Given the description of an element on the screen output the (x, y) to click on. 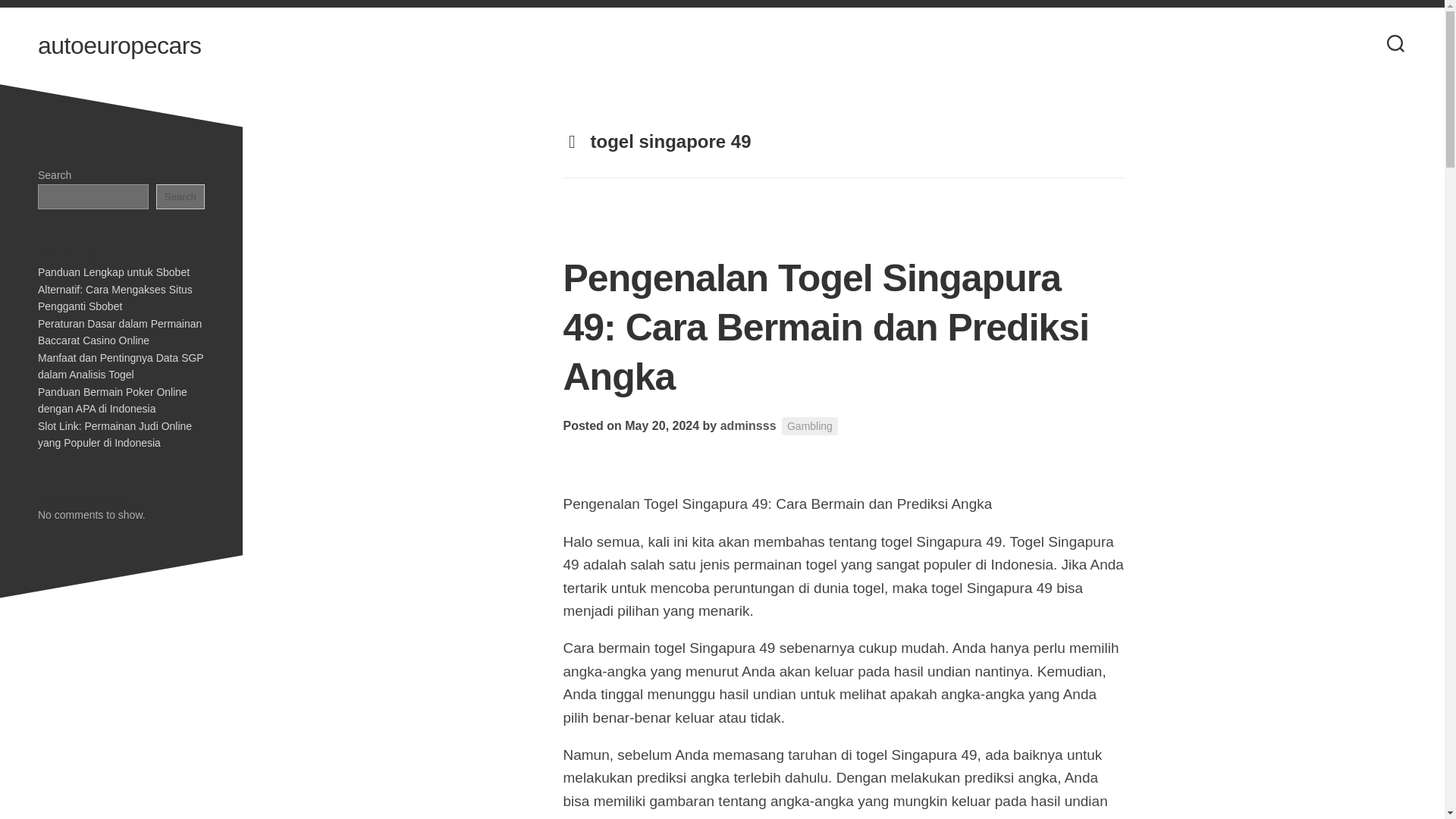
Manfaat dan Pentingnya Data SGP dalam Analisis Togel (120, 366)
Posts by adminsss (748, 425)
Peraturan Dasar dalam Permainan Baccarat Casino Online (119, 331)
Search (180, 195)
autoeuropecars (118, 44)
adminsss (748, 425)
Gambling (809, 425)
Panduan Bermain Poker Online dengan APA di Indonesia (112, 399)
Slot Link: Permainan Judi Online yang Populer di Indonesia (114, 434)
